Given the description of an element on the screen output the (x, y) to click on. 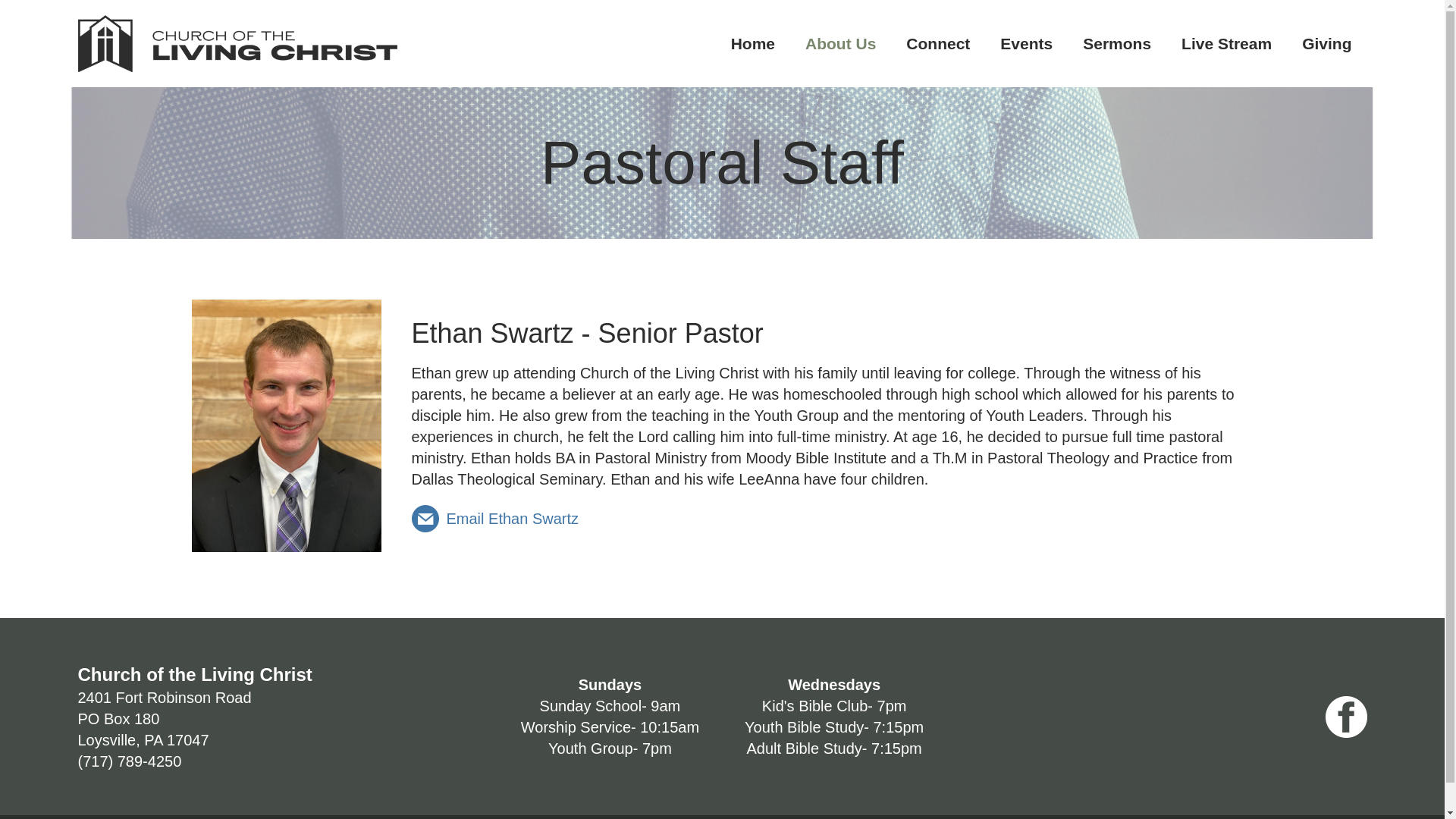
Connect (938, 43)
Email Ethan Swartz (494, 518)
Sermons (1116, 43)
Giving (1327, 43)
Events (163, 718)
Home (1026, 43)
About Us (753, 43)
Facebook (840, 43)
Live Stream (1345, 716)
